Given the description of an element on the screen output the (x, y) to click on. 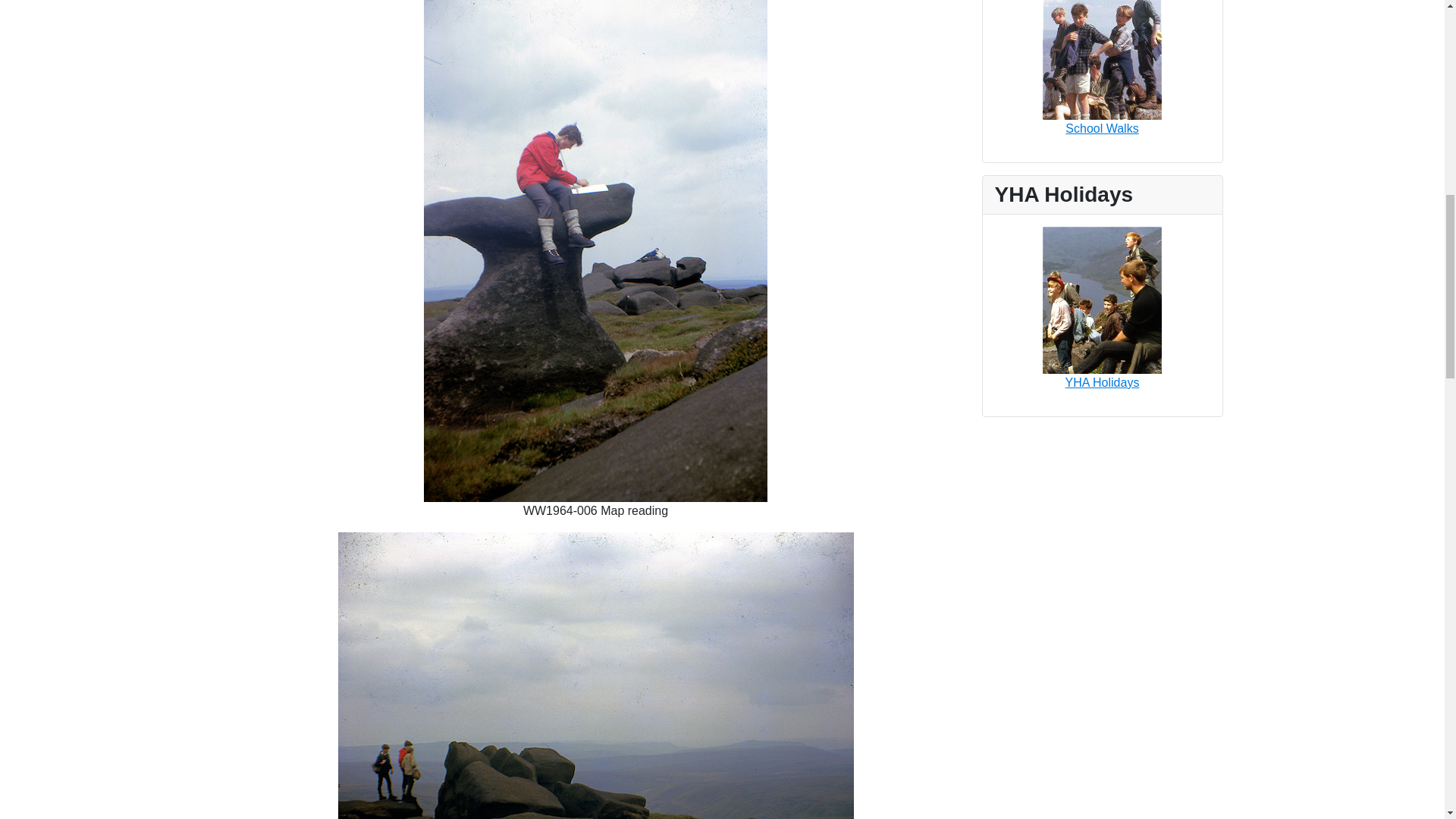
YHA Holidays (1101, 299)
School Walks (1101, 59)
